Given the description of an element on the screen output the (x, y) to click on. 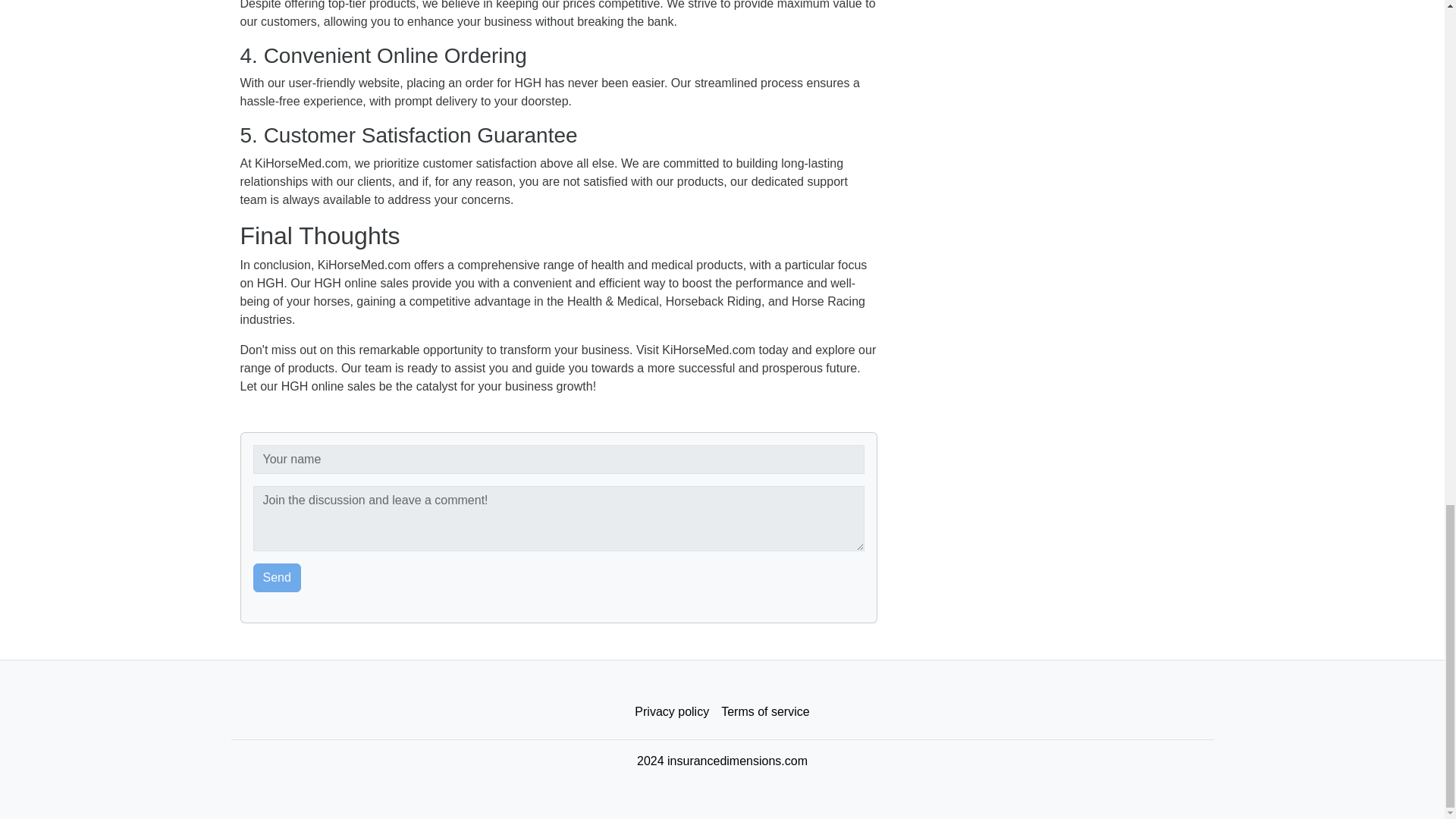
Privacy policy (671, 711)
Send (277, 577)
Terms of service (764, 711)
Send (277, 577)
